Given the description of an element on the screen output the (x, y) to click on. 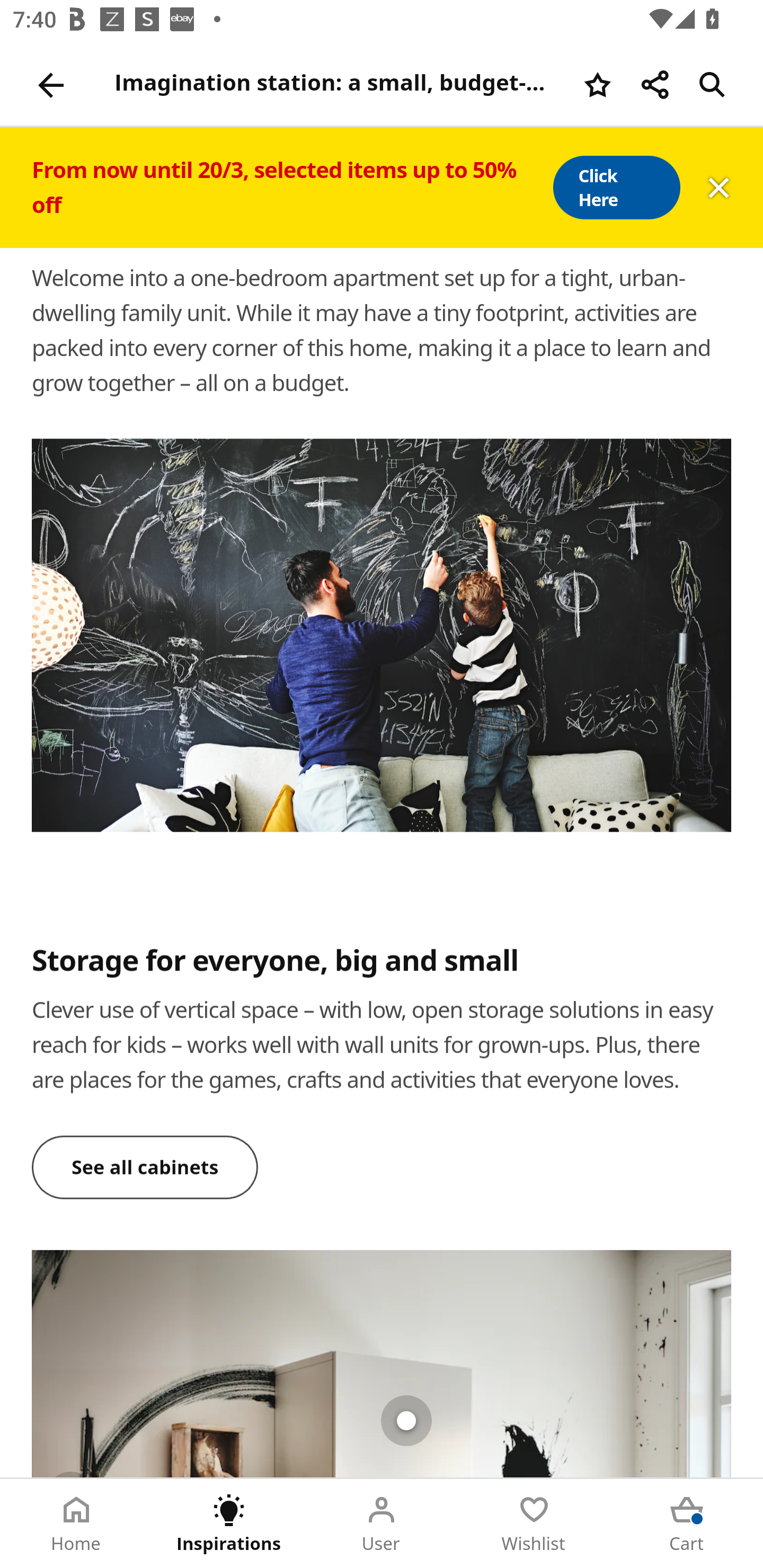
Click Here (615, 187)
See all cabinets (145, 1167)
Home
Tab 1 of 5 (76, 1522)
Inspirations
Tab 2 of 5 (228, 1522)
User
Tab 3 of 5 (381, 1522)
Wishlist
Tab 4 of 5 (533, 1522)
Cart
Tab 5 of 5 (686, 1522)
